Given the description of an element on the screen output the (x, y) to click on. 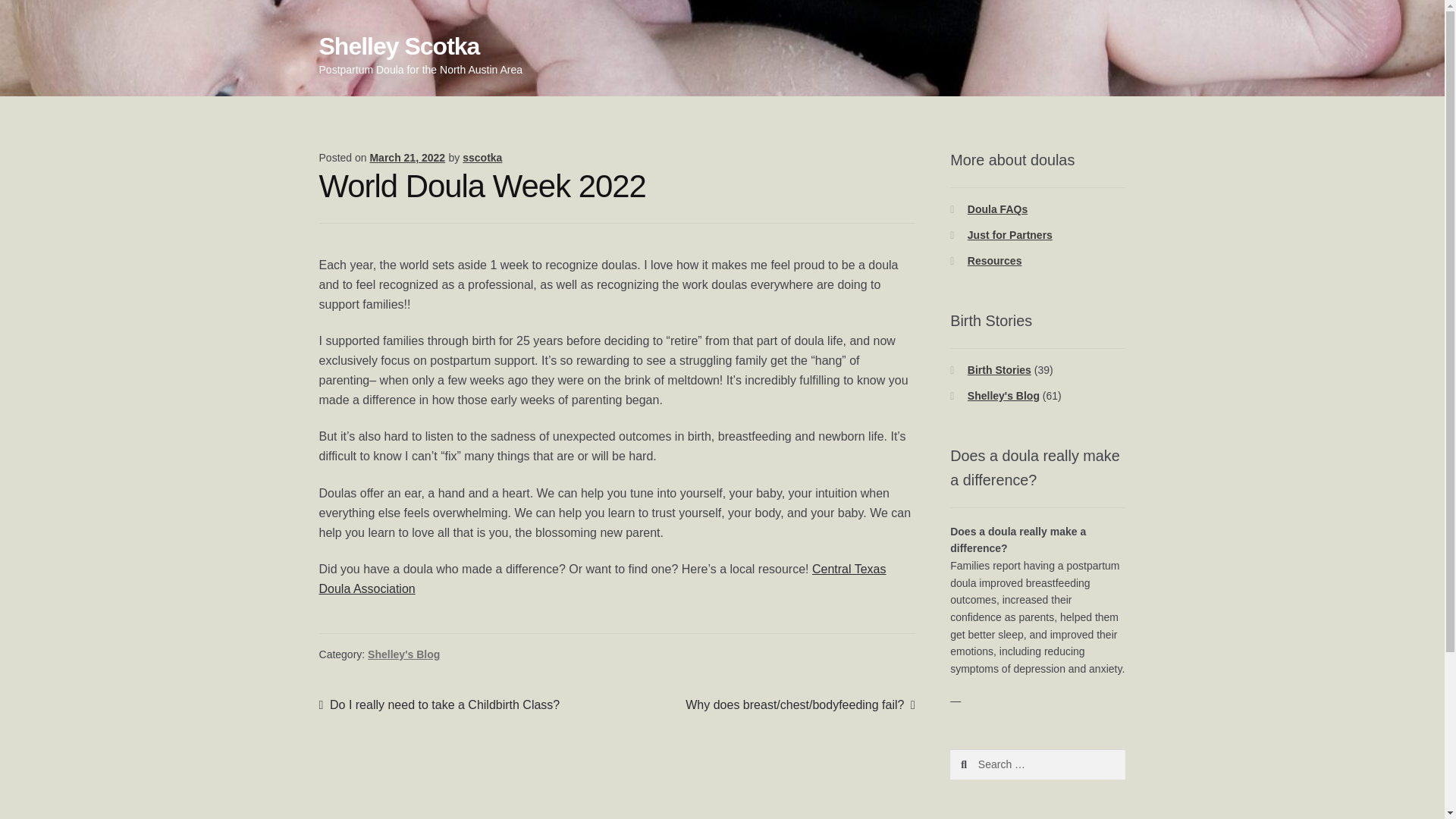
Doula FAQs (997, 209)
Frequently Asked Questions about doulas. (997, 209)
Shelley's Blog (1003, 395)
March 21, 2022 (407, 157)
Birth Stories (439, 704)
Shelley Scotka (999, 369)
